Given the description of an element on the screen output the (x, y) to click on. 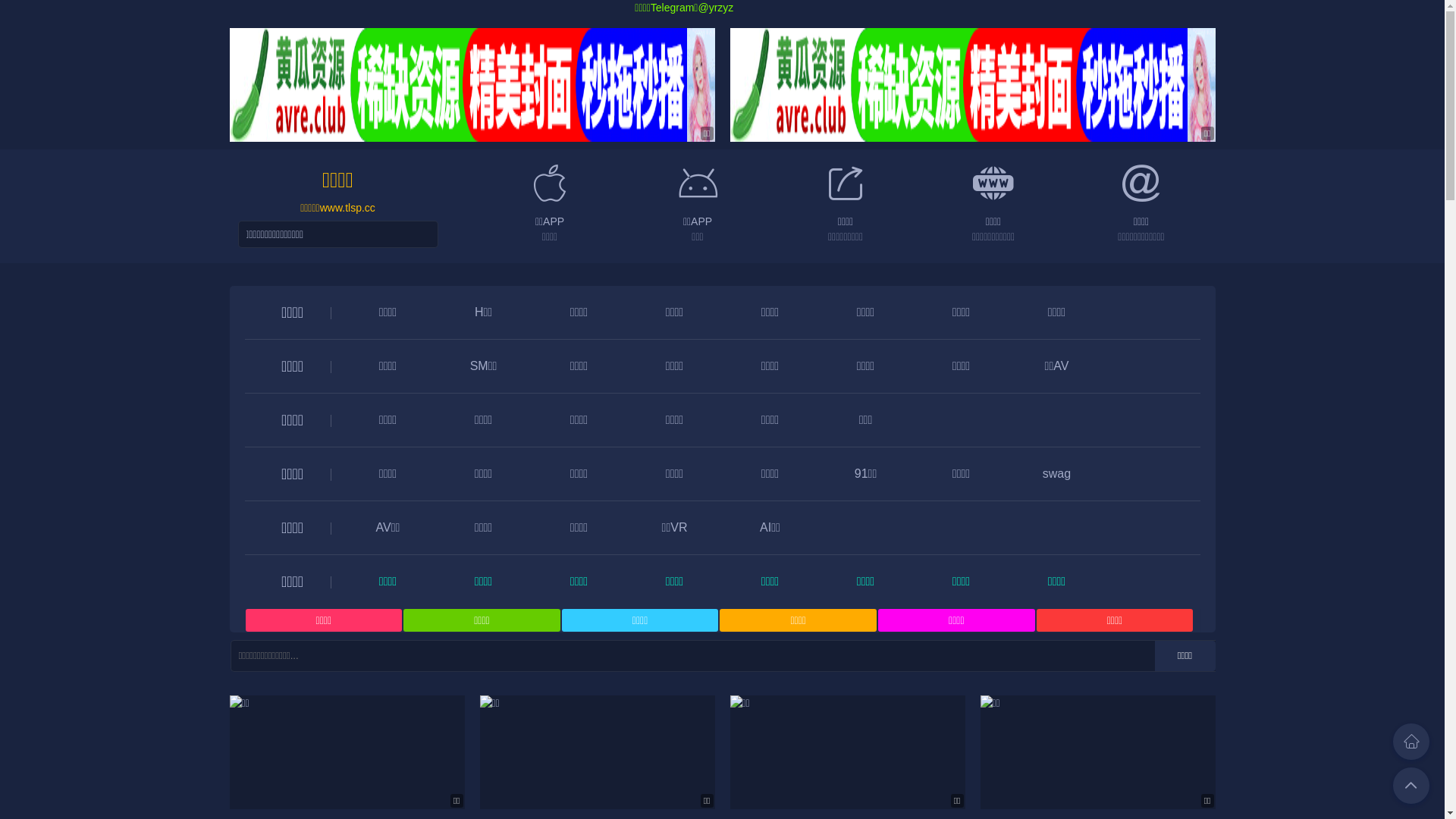
swag Element type: text (1056, 473)
